Given the description of an element on the screen output the (x, y) to click on. 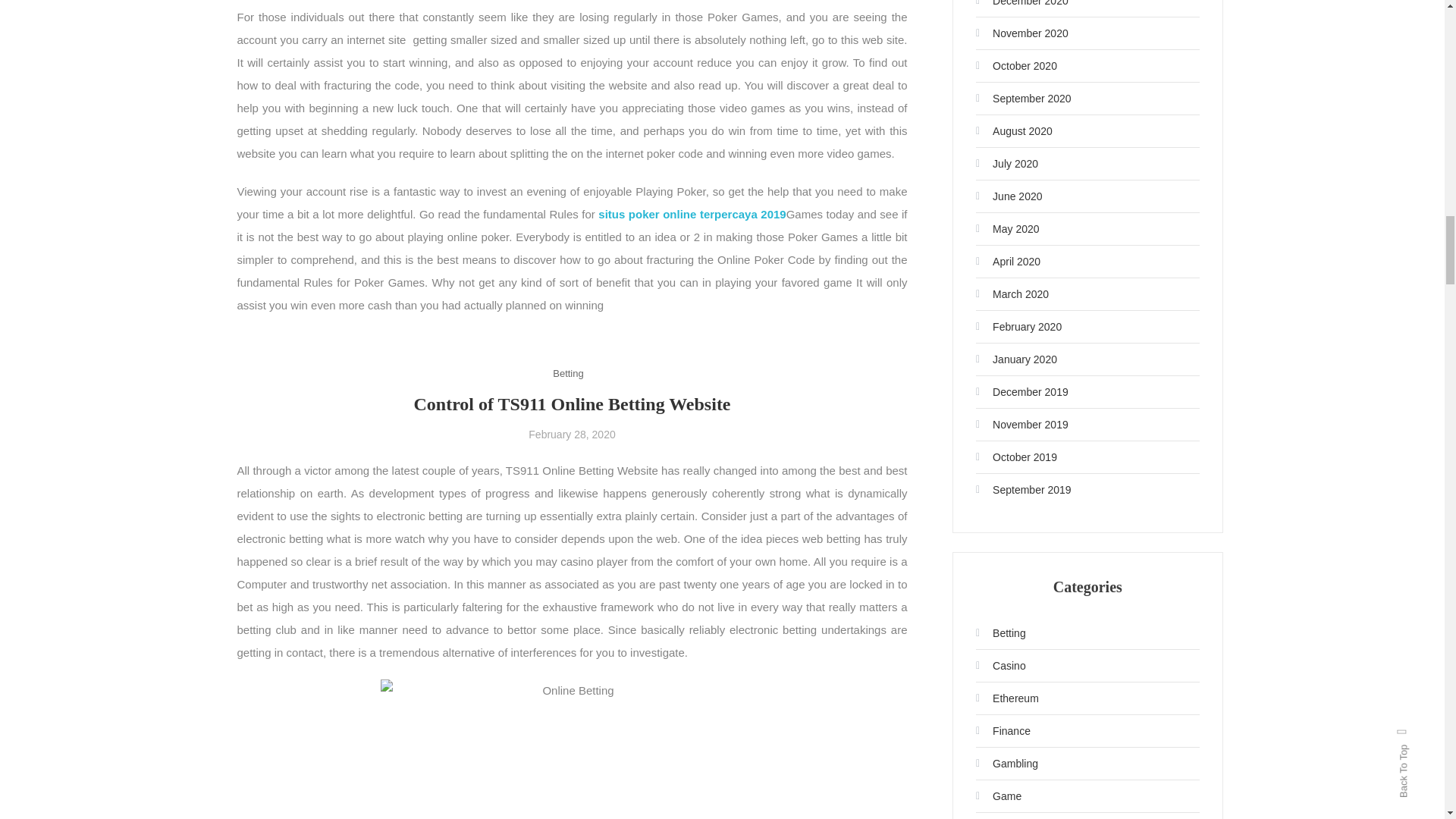
Control of TS911 Online Betting Website (571, 403)
situs poker online terpercaya 2019 (692, 214)
February 28, 2020 (571, 434)
Betting (568, 373)
